Given the description of an element on the screen output the (x, y) to click on. 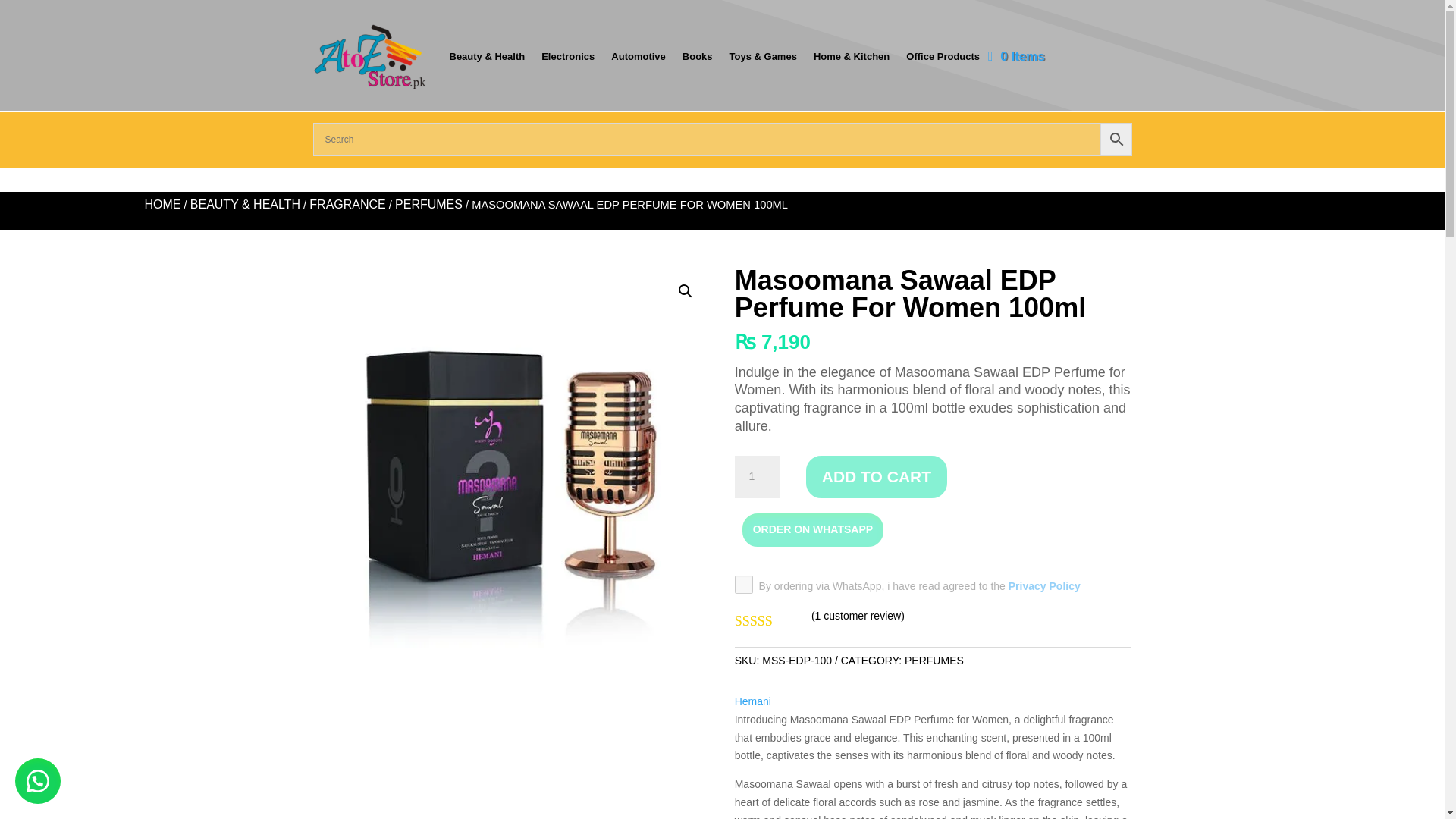
View brand (753, 701)
PERFUMES (428, 204)
on (743, 584)
FRAGRANCE (346, 204)
ORDER ON WHATSAPP (813, 529)
ADD TO CART (876, 476)
HOME (162, 204)
1 (757, 476)
